Given the description of an element on the screen output the (x, y) to click on. 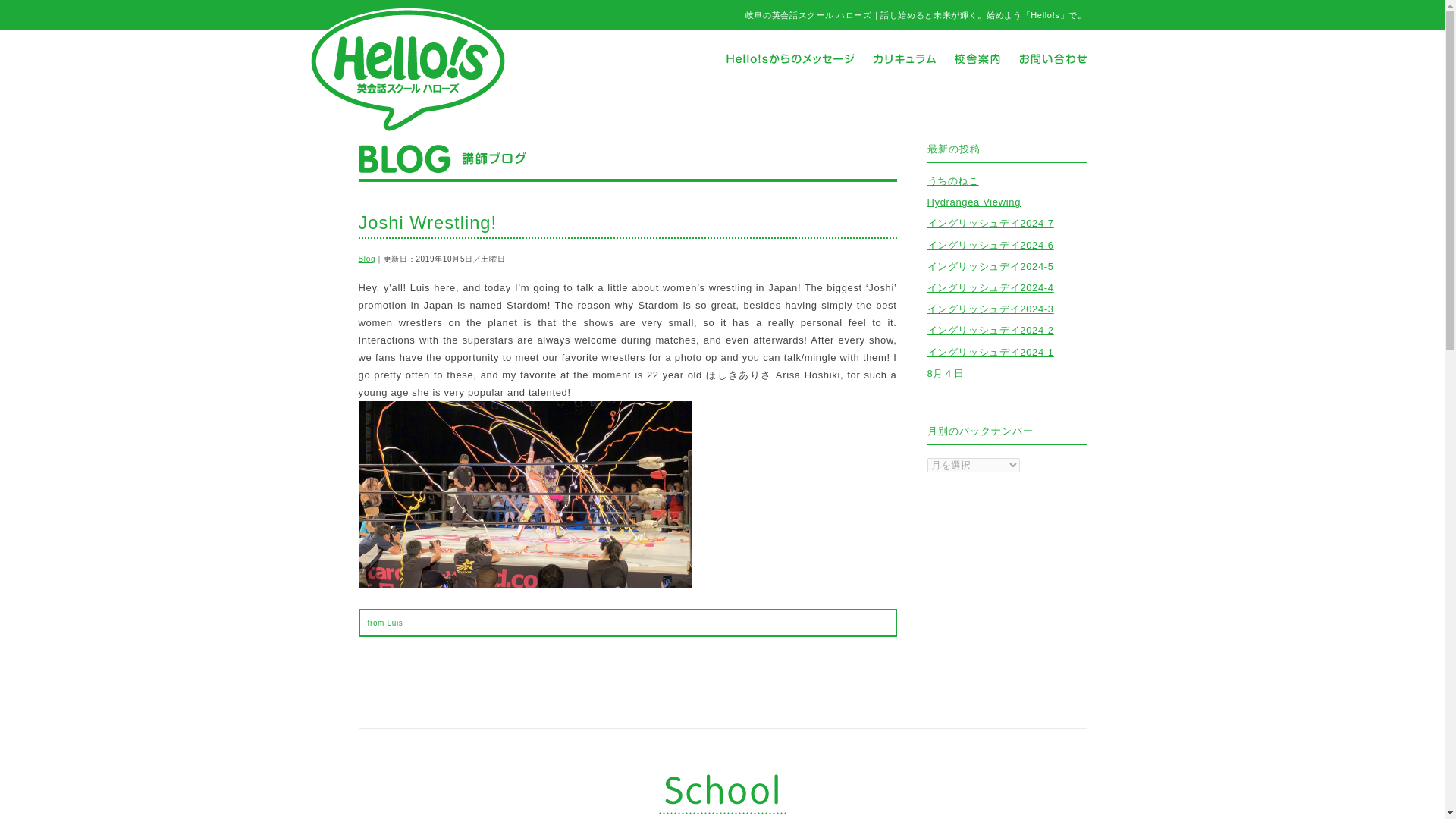
Hydrangea Viewing (973, 202)
Hydrangea Viewing (973, 202)
Joshi Wrestling! (427, 222)
Joshi Wrestling! (427, 222)
Blog (366, 258)
